Given the description of an element on the screen output the (x, y) to click on. 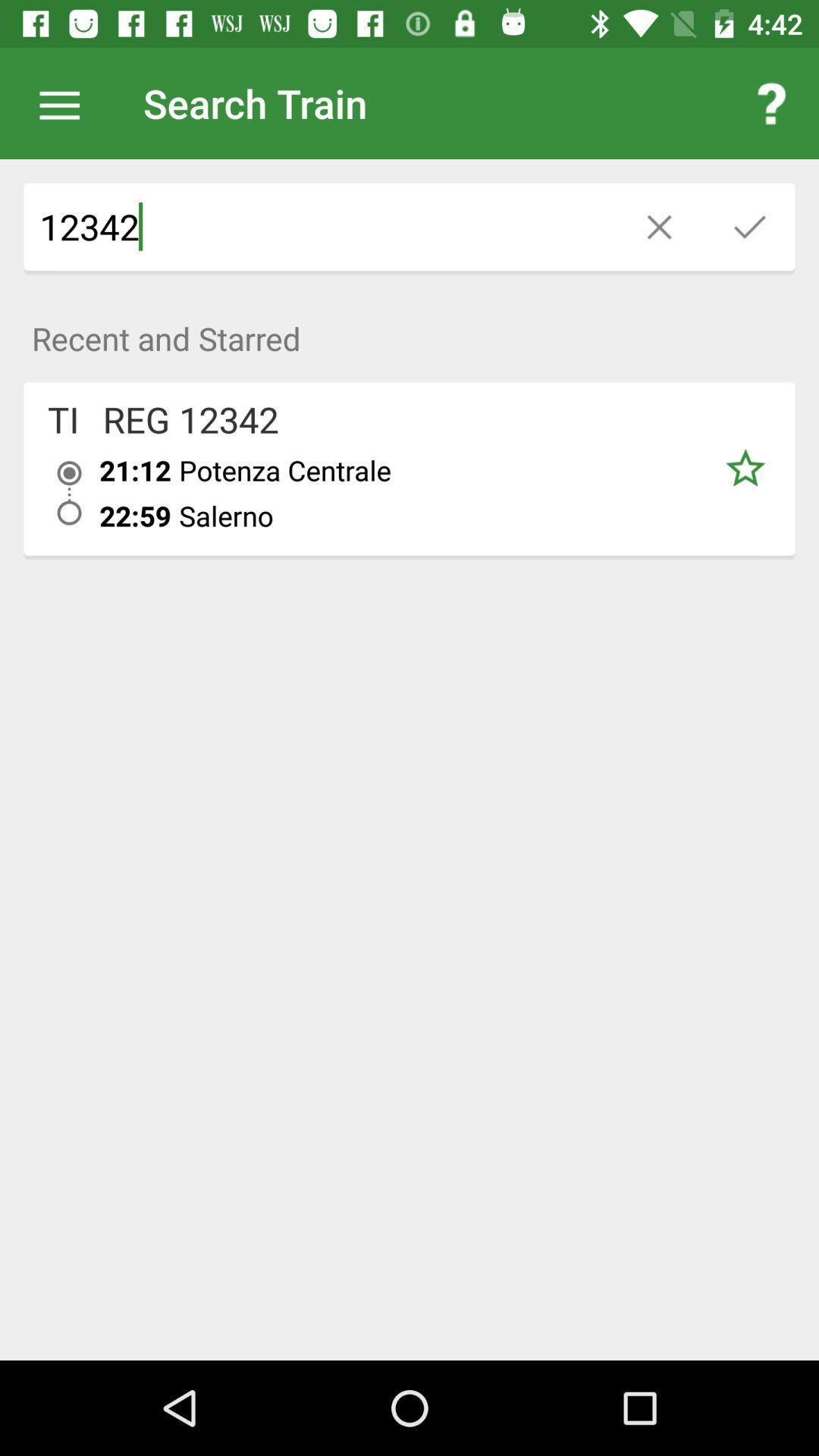
open item to the left of the potenza centrale (135, 470)
